Given the description of an element on the screen output the (x, y) to click on. 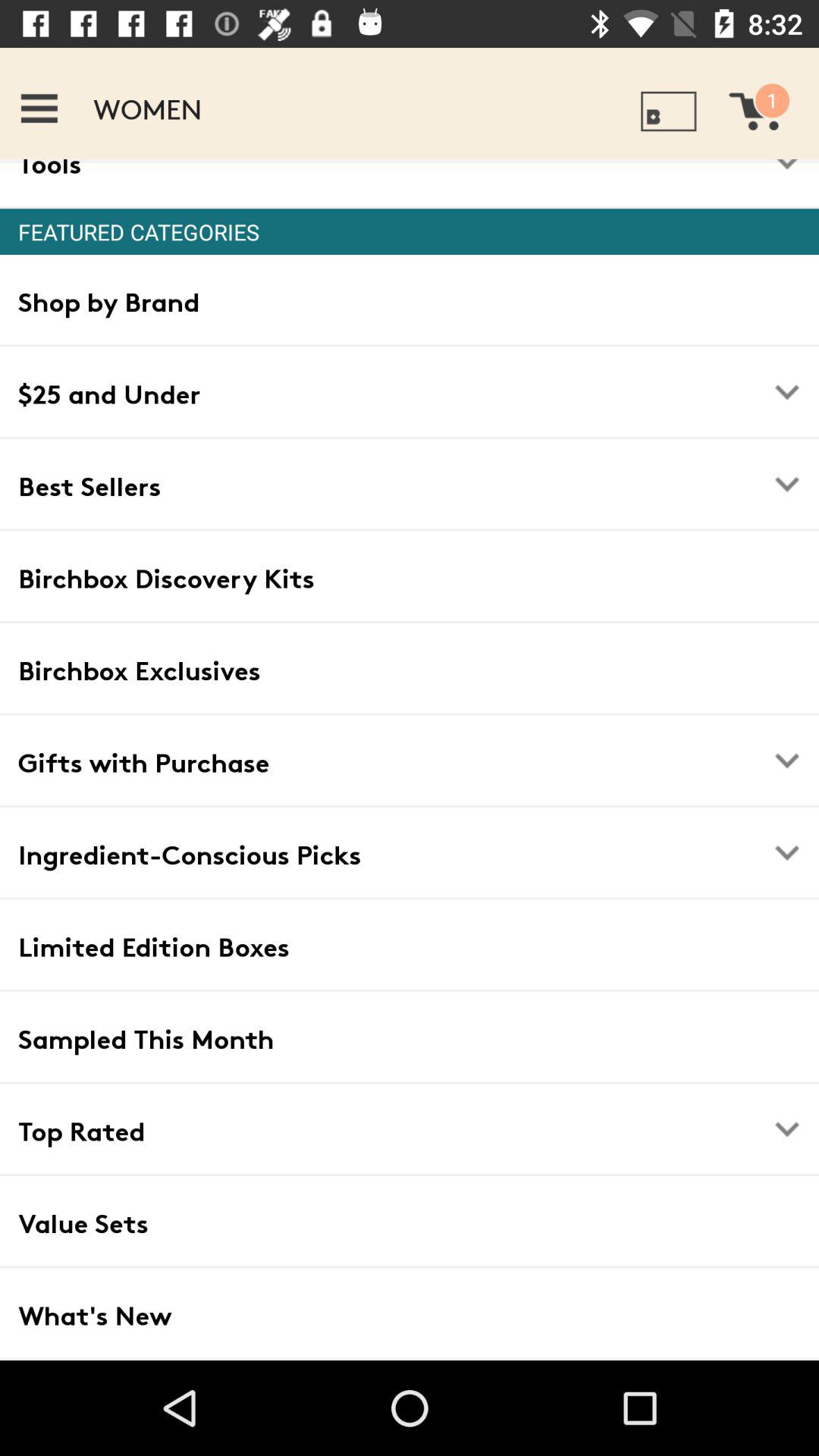
click on the fourth drop down in featured categories (786, 852)
click on the icon which is right side of women in the top row (668, 111)
select the drop down icon right next to the text top rated (786, 1128)
